Given the description of an element on the screen output the (x, y) to click on. 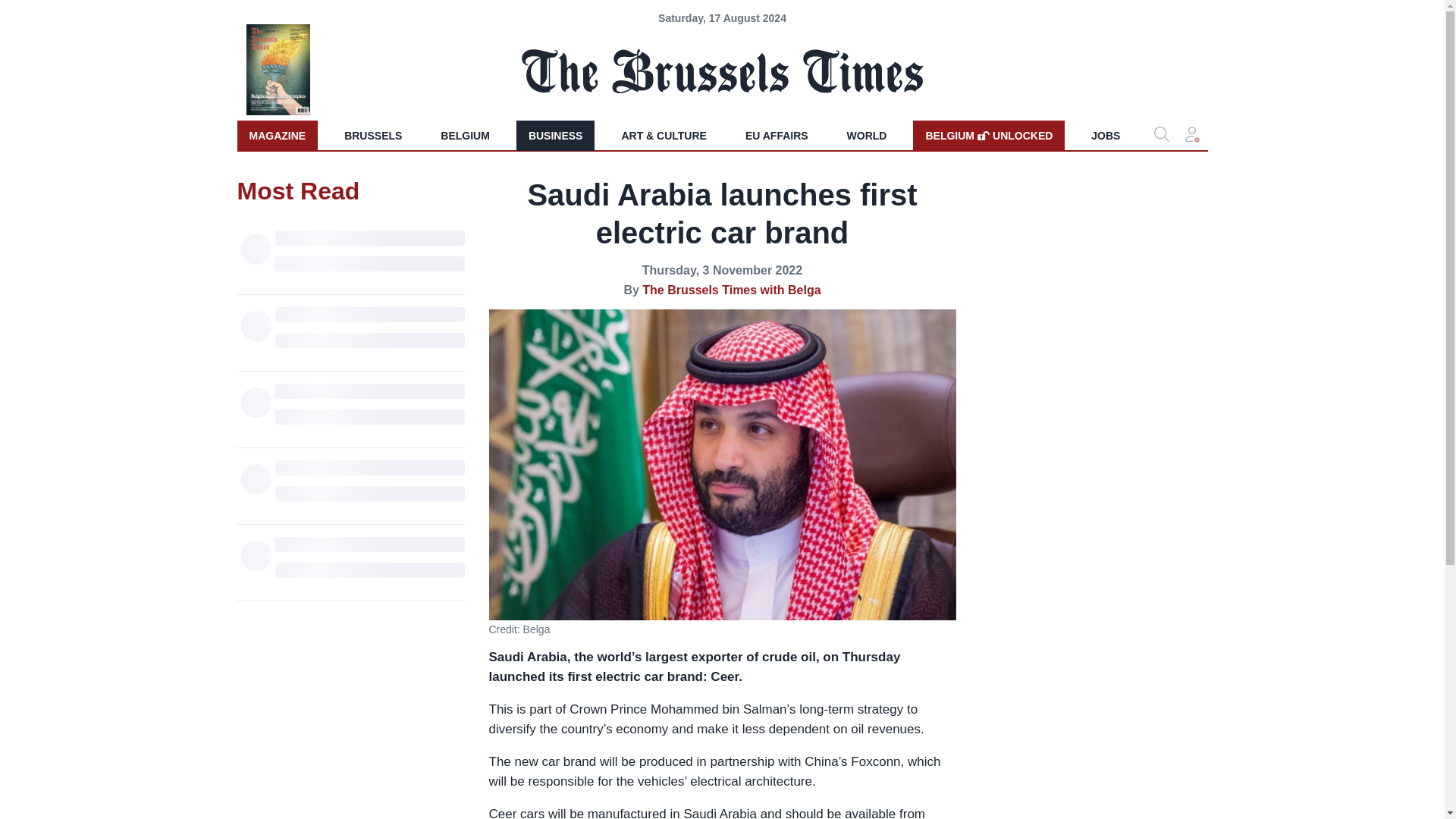
JOBS (1105, 135)
BRUSSELS (372, 135)
BELGIUM (465, 135)
BUSINESS (988, 135)
MAGAZINE (555, 135)
WORLD (276, 135)
EU AFFAIRS (866, 135)
The Brussels Times with Belga (777, 135)
